Given the description of an element on the screen output the (x, y) to click on. 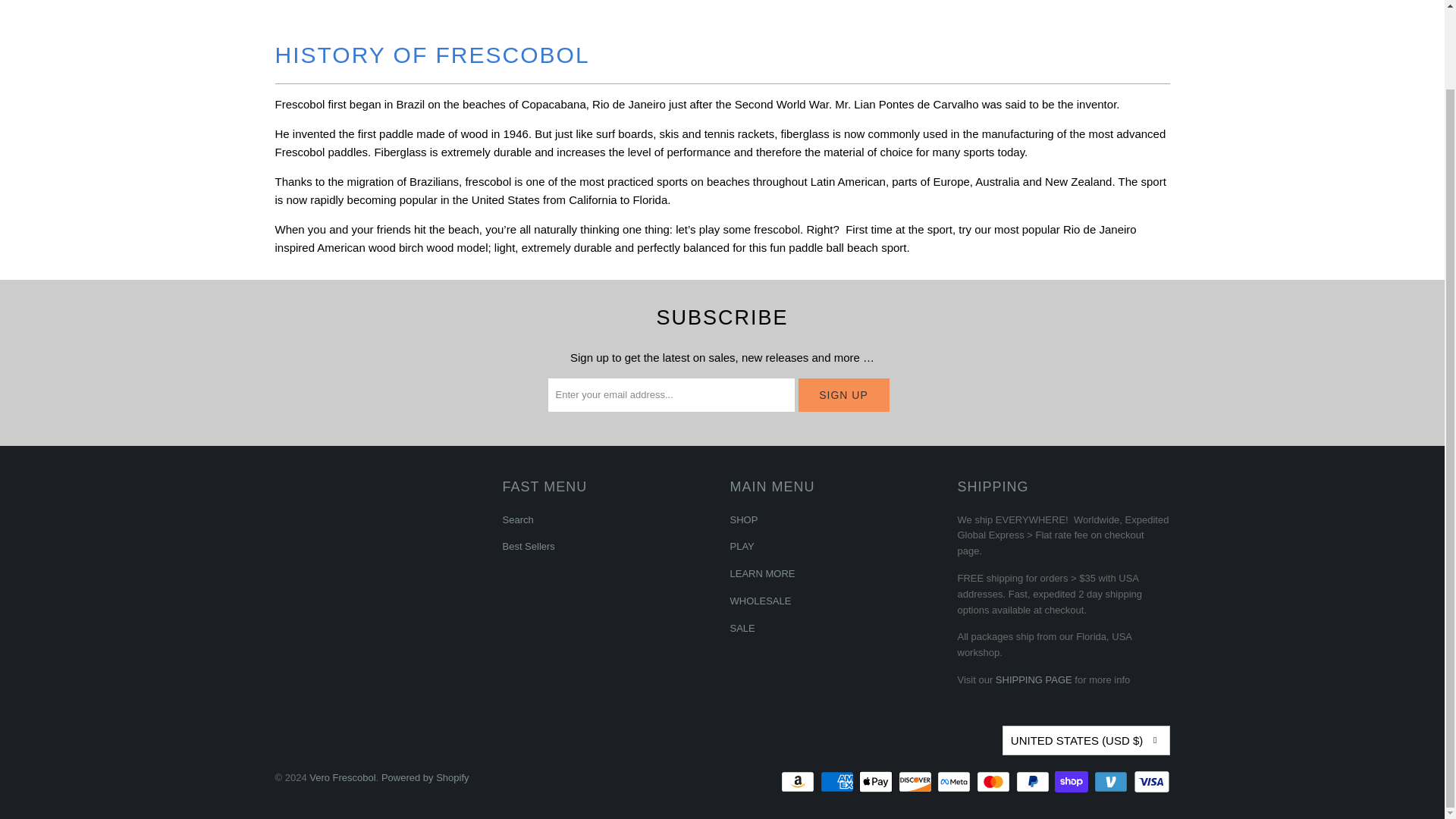
Discover (916, 781)
Mastercard (994, 781)
Sign Up (842, 394)
Amazon (798, 781)
Vero Frescobol (722, 2)
Shop Pay (1072, 781)
Visa (1150, 781)
Shipping (1033, 679)
Meta Pay (955, 781)
PayPal (1034, 781)
